Given the description of an element on the screen output the (x, y) to click on. 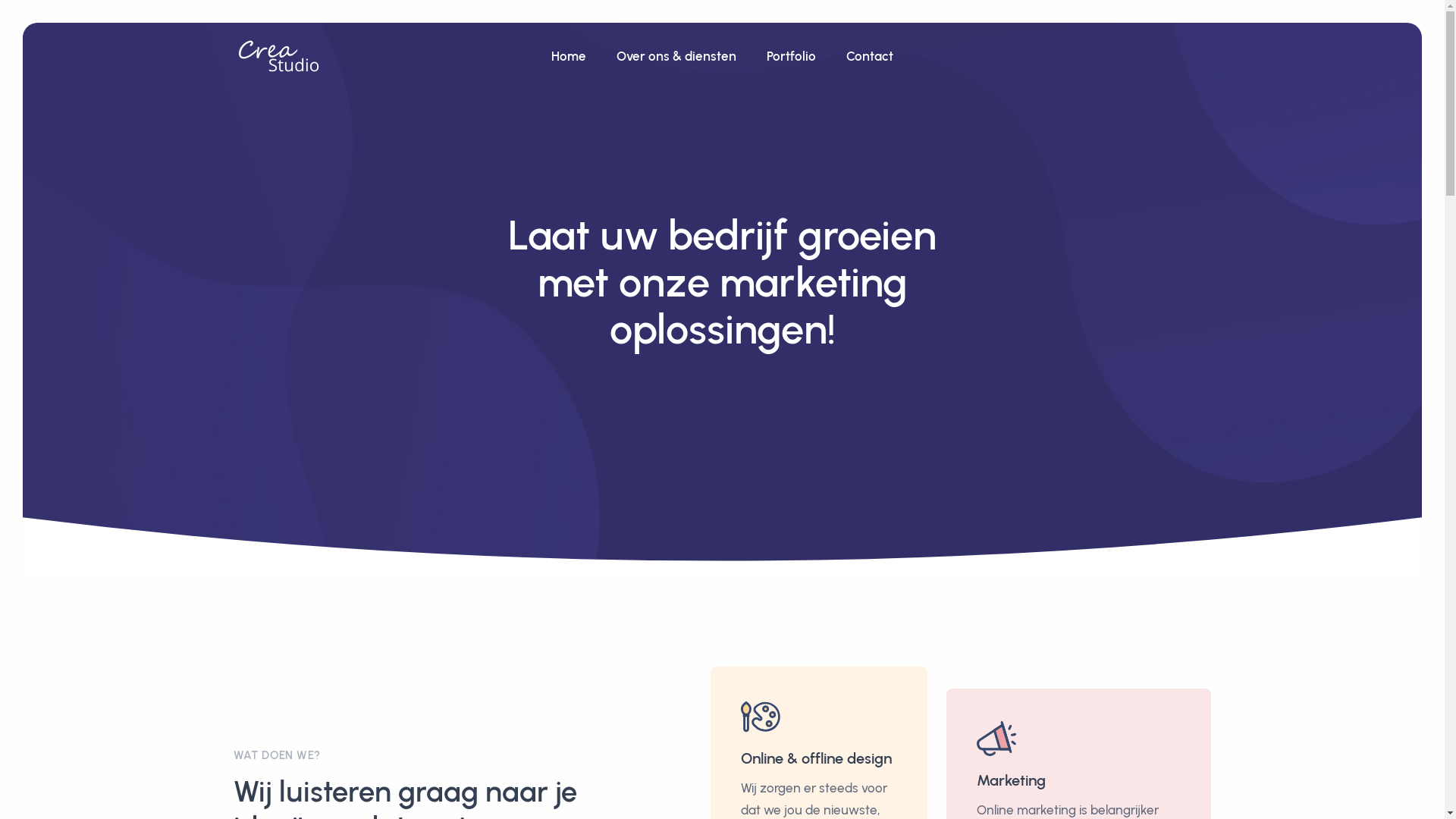
Contact Element type: text (869, 56)
Over ons & diensten Element type: text (676, 56)
Home Element type: text (568, 56)
Portfolio Element type: text (791, 56)
